Given the description of an element on the screen output the (x, y) to click on. 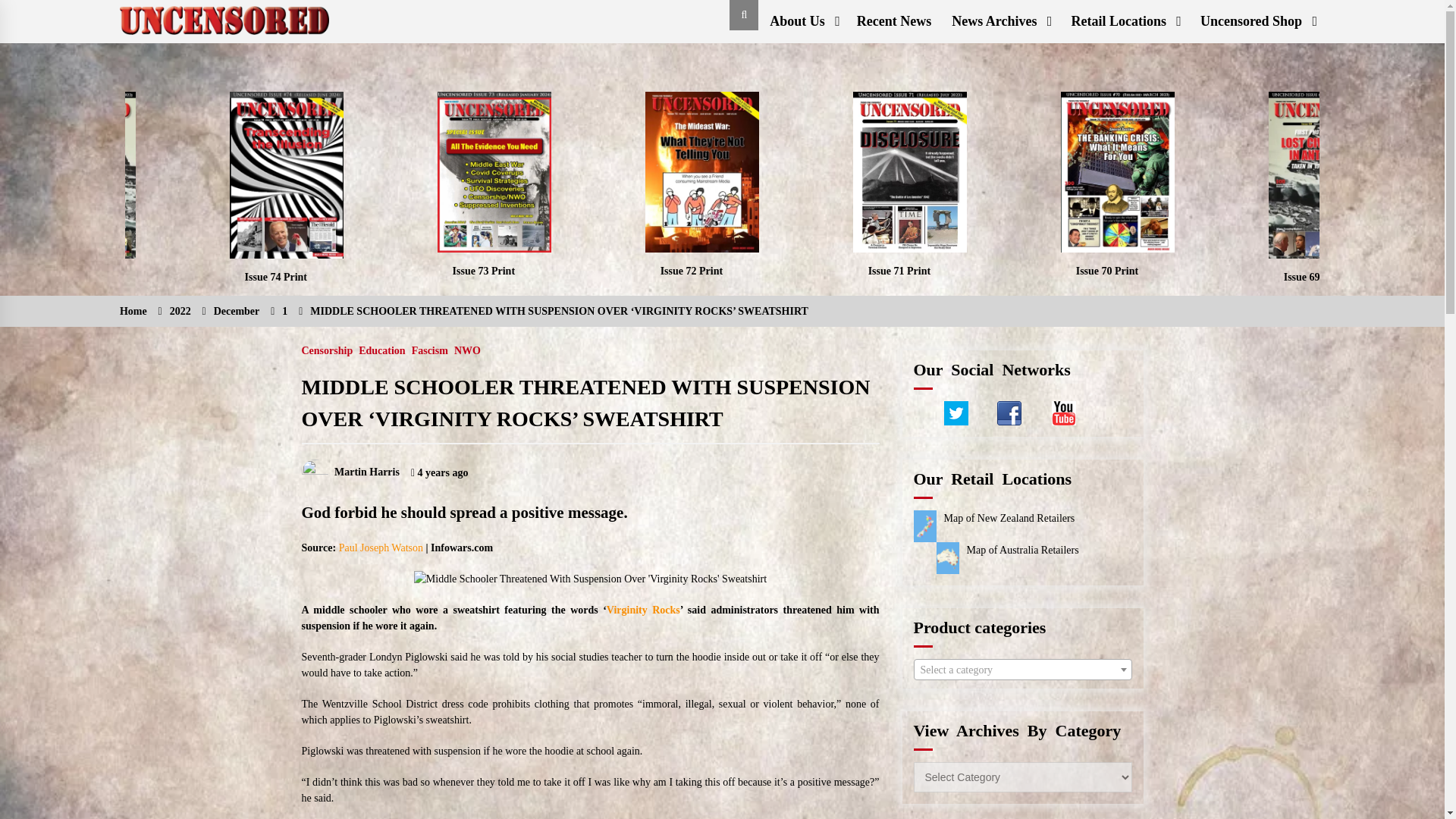
News Archives (999, 21)
Recent News (893, 21)
Uncensored Shop (1256, 21)
About Us (802, 21)
Retail Locations (1124, 21)
